Given the description of an element on the screen output the (x, y) to click on. 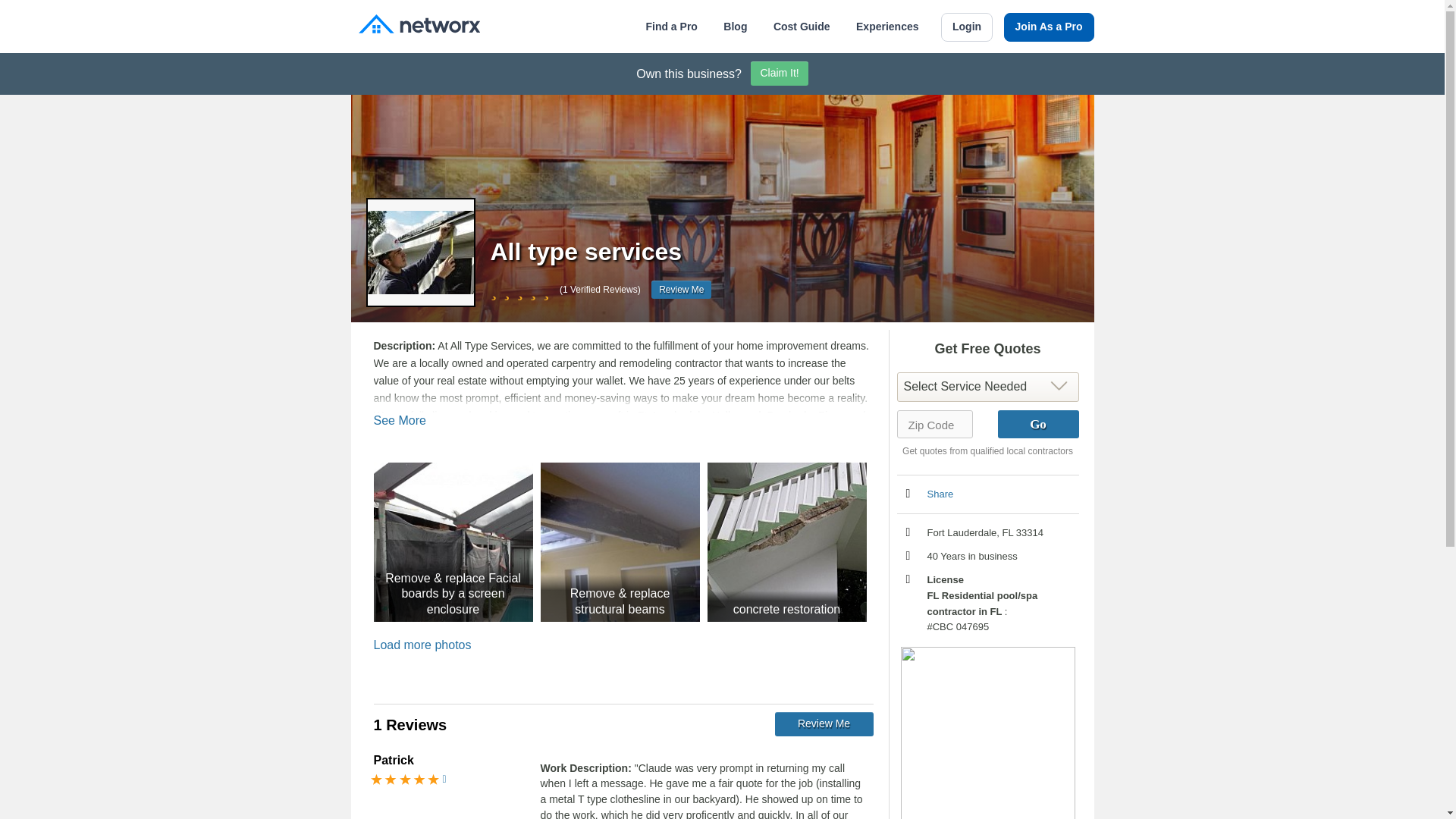
Login (966, 27)
Cost Guide (801, 26)
Join As a Pro (1049, 27)
Networx (418, 25)
Go (1037, 424)
Claim It! (779, 73)
concrete restoration  (786, 541)
Blog (734, 26)
Experiences (887, 26)
Find a Pro (670, 26)
Review Me (680, 289)
